Given the description of an element on the screen output the (x, y) to click on. 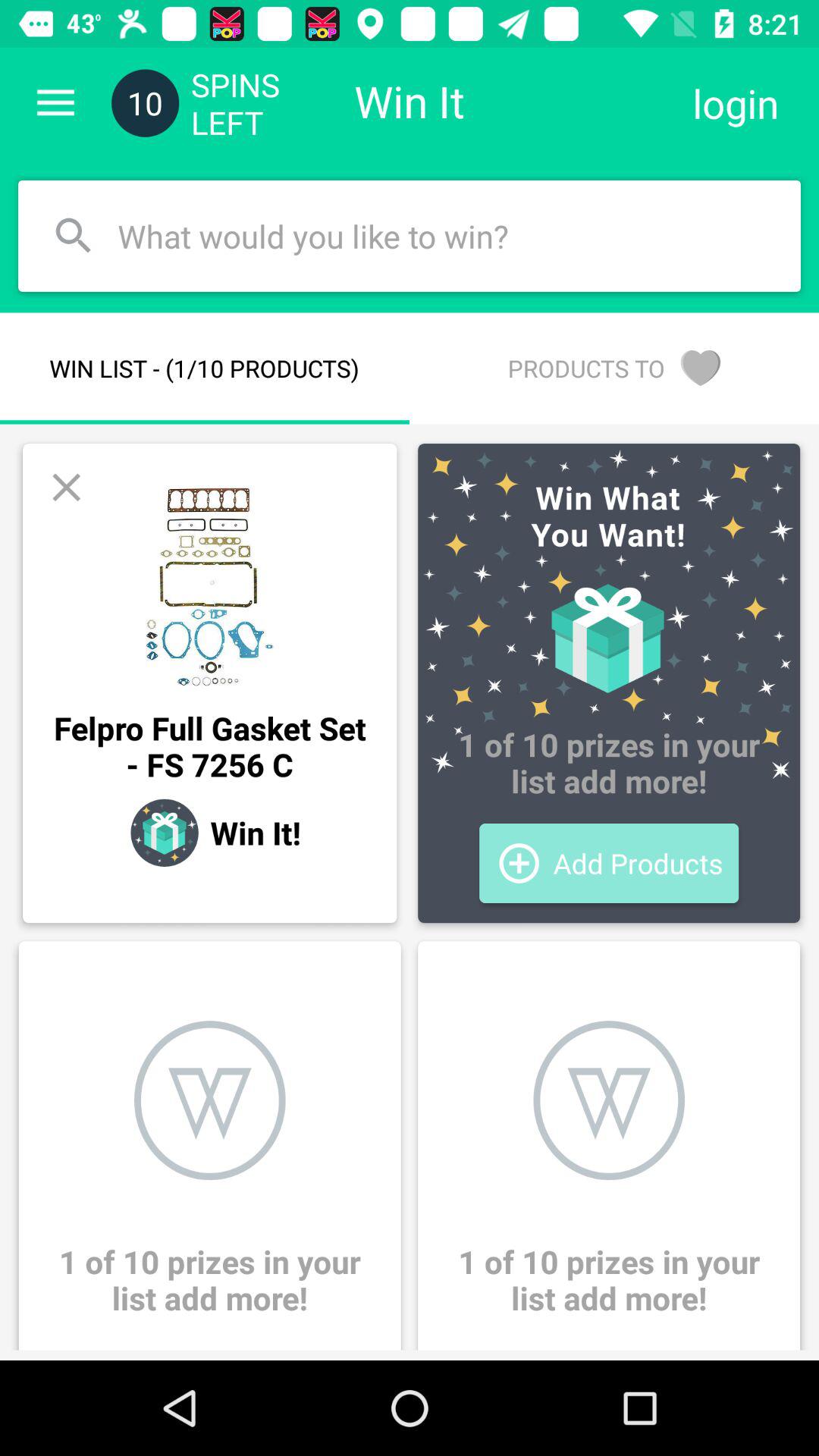
click the item to the left of 10 (55, 103)
